Given the description of an element on the screen output the (x, y) to click on. 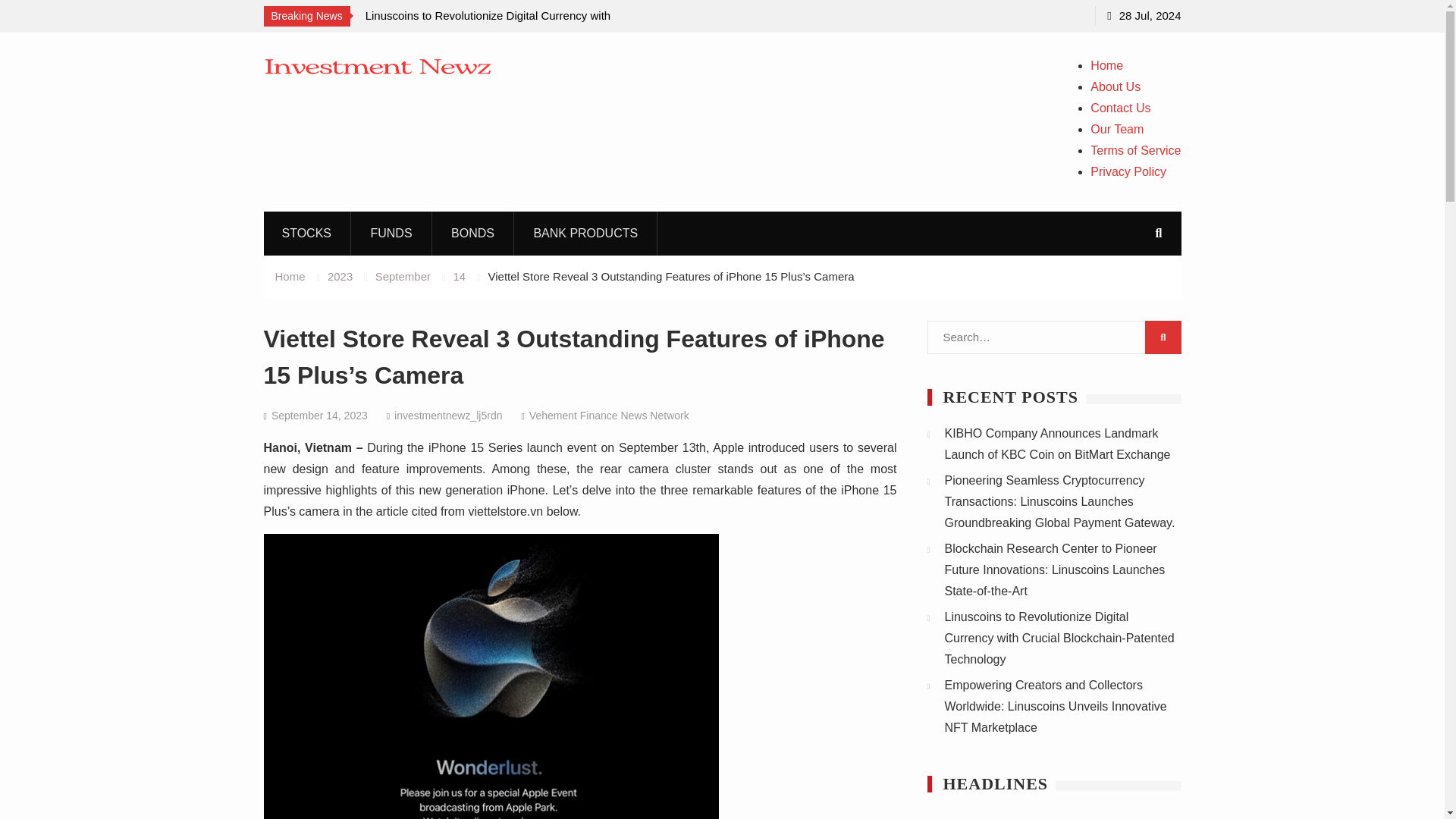
September (402, 276)
Vehement Finance News Network (608, 415)
Search for: (1053, 337)
14 (458, 276)
BANK PRODUCTS (585, 232)
STOCKS (307, 232)
About Us (1115, 86)
September 14, 2023 (319, 415)
FUNDS (390, 232)
Terms of Service (1135, 150)
BONDS (472, 232)
Home (289, 276)
